Given the description of an element on the screen output the (x, y) to click on. 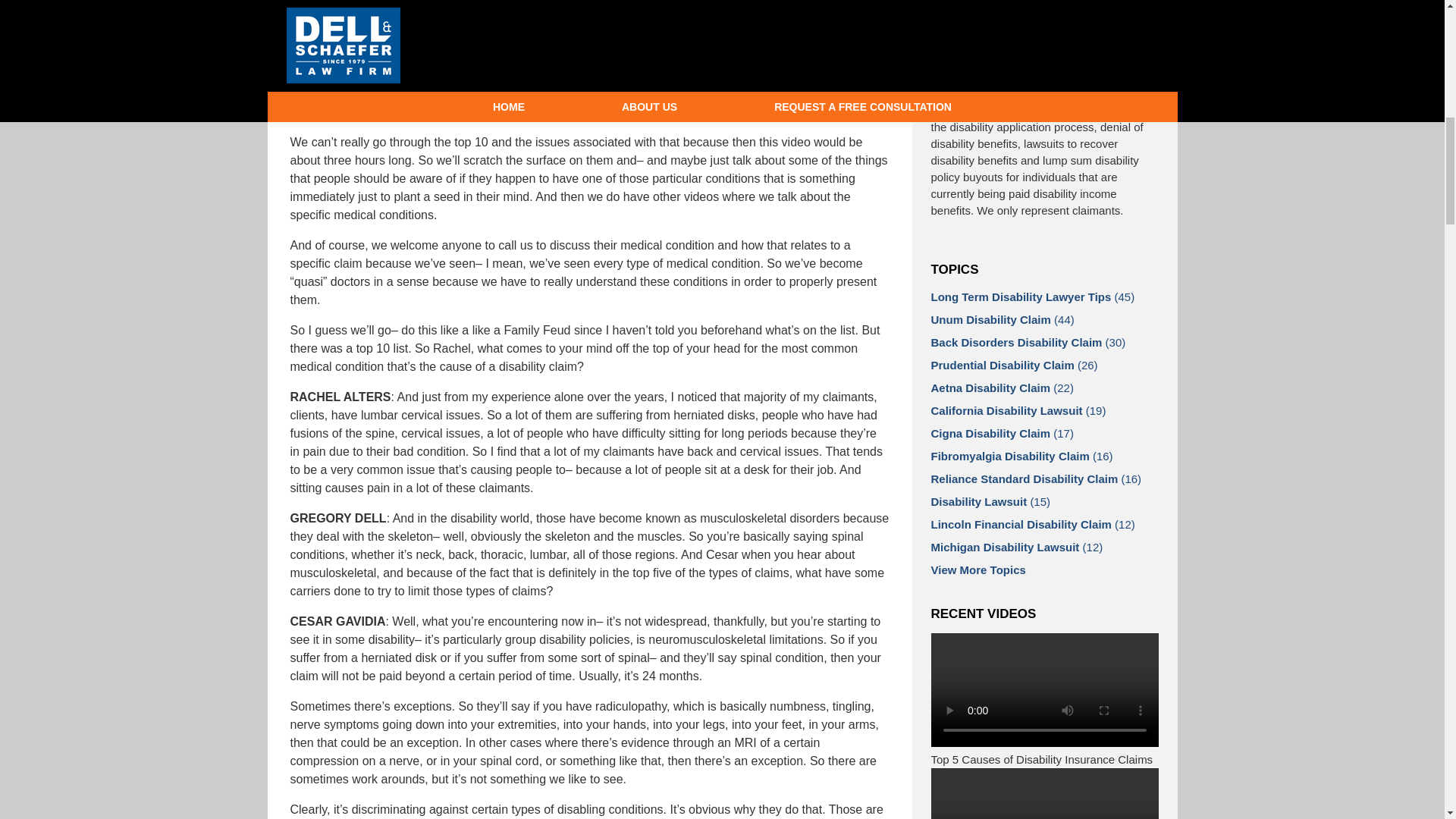
Diattorney.com (333, 8)
View More Topics (1044, 567)
